Given the description of an element on the screen output the (x, y) to click on. 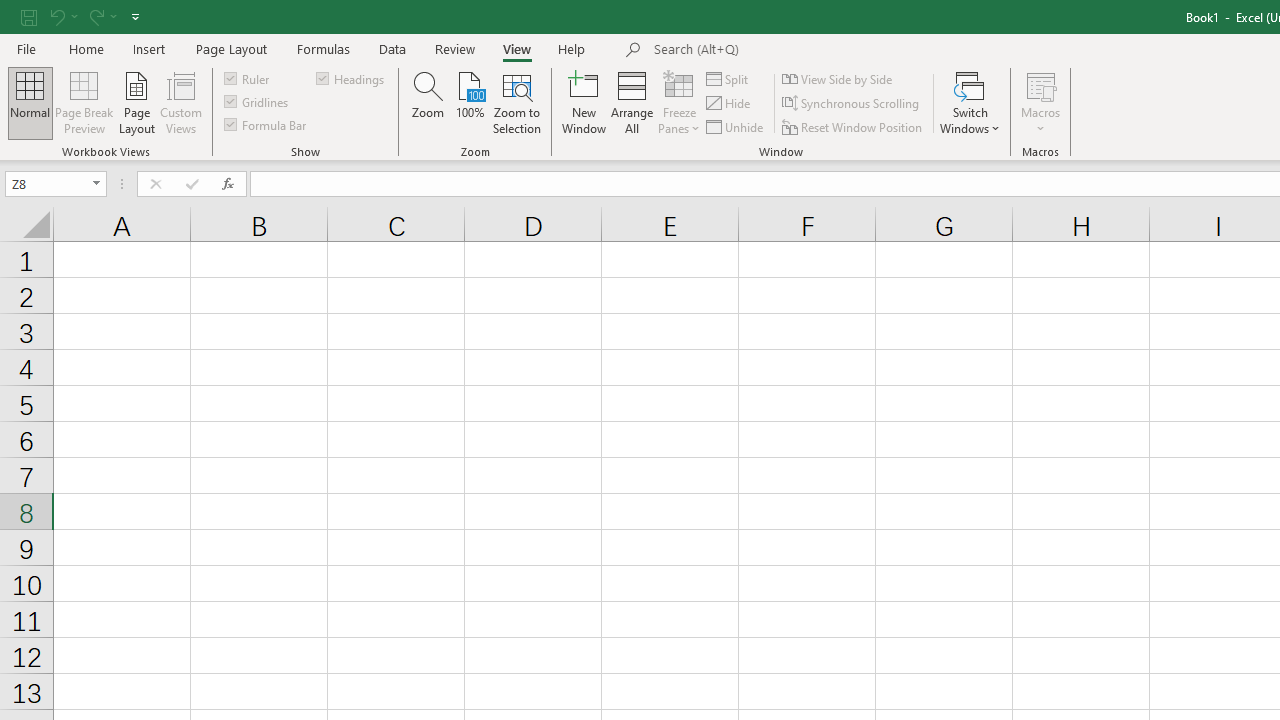
Macros (1040, 102)
Hide (729, 103)
Open (96, 183)
Headings (351, 78)
View (517, 48)
Custom Views... (180, 102)
Switch Windows (970, 102)
Microsoft search (792, 49)
Review (454, 48)
Save (29, 15)
